Given the description of an element on the screen output the (x, y) to click on. 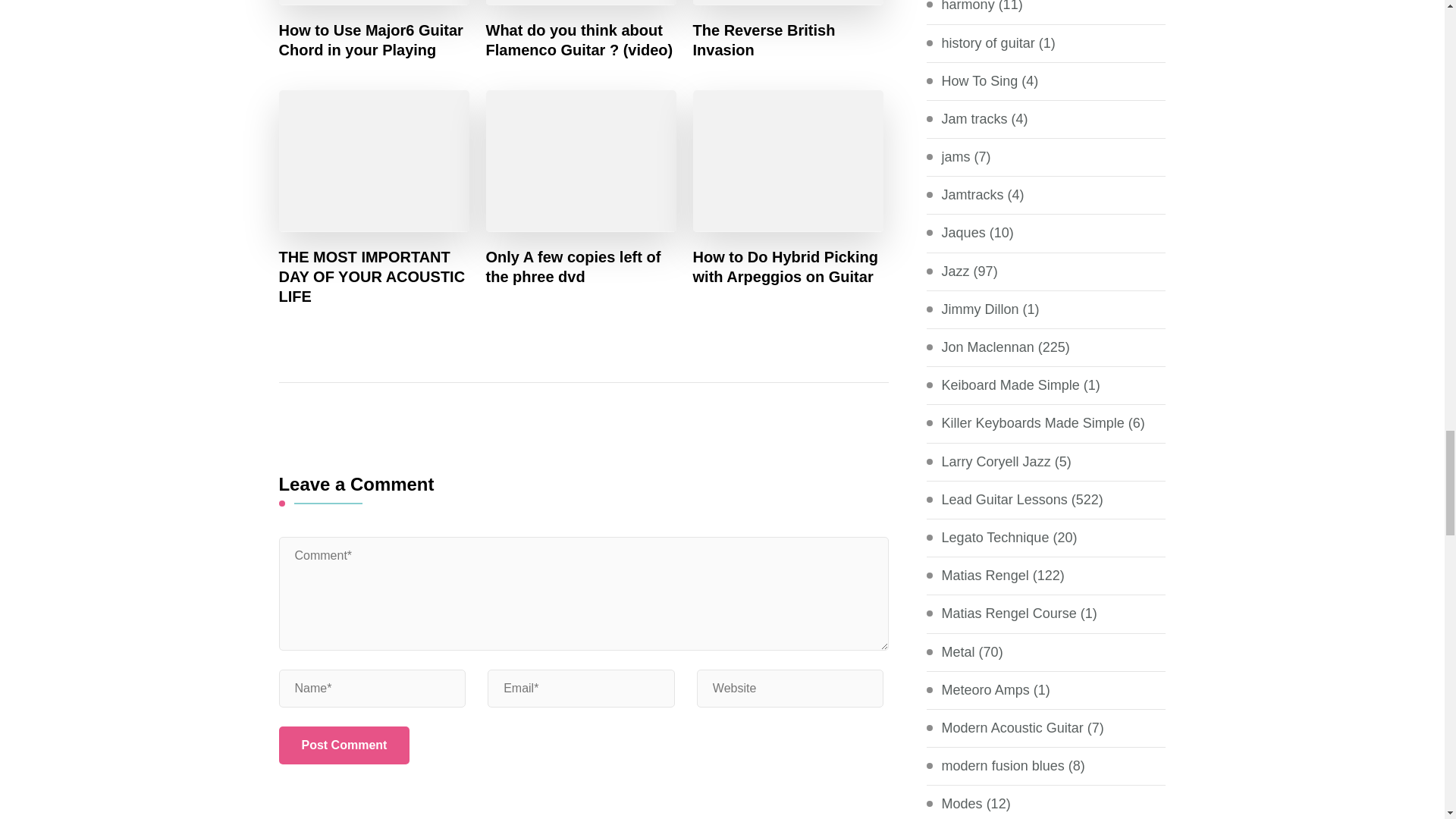
The Reverse British Invasion (788, 39)
How to Use Major6 Guitar Chord in your Playing (374, 39)
Post Comment (344, 745)
